Given the description of an element on the screen output the (x, y) to click on. 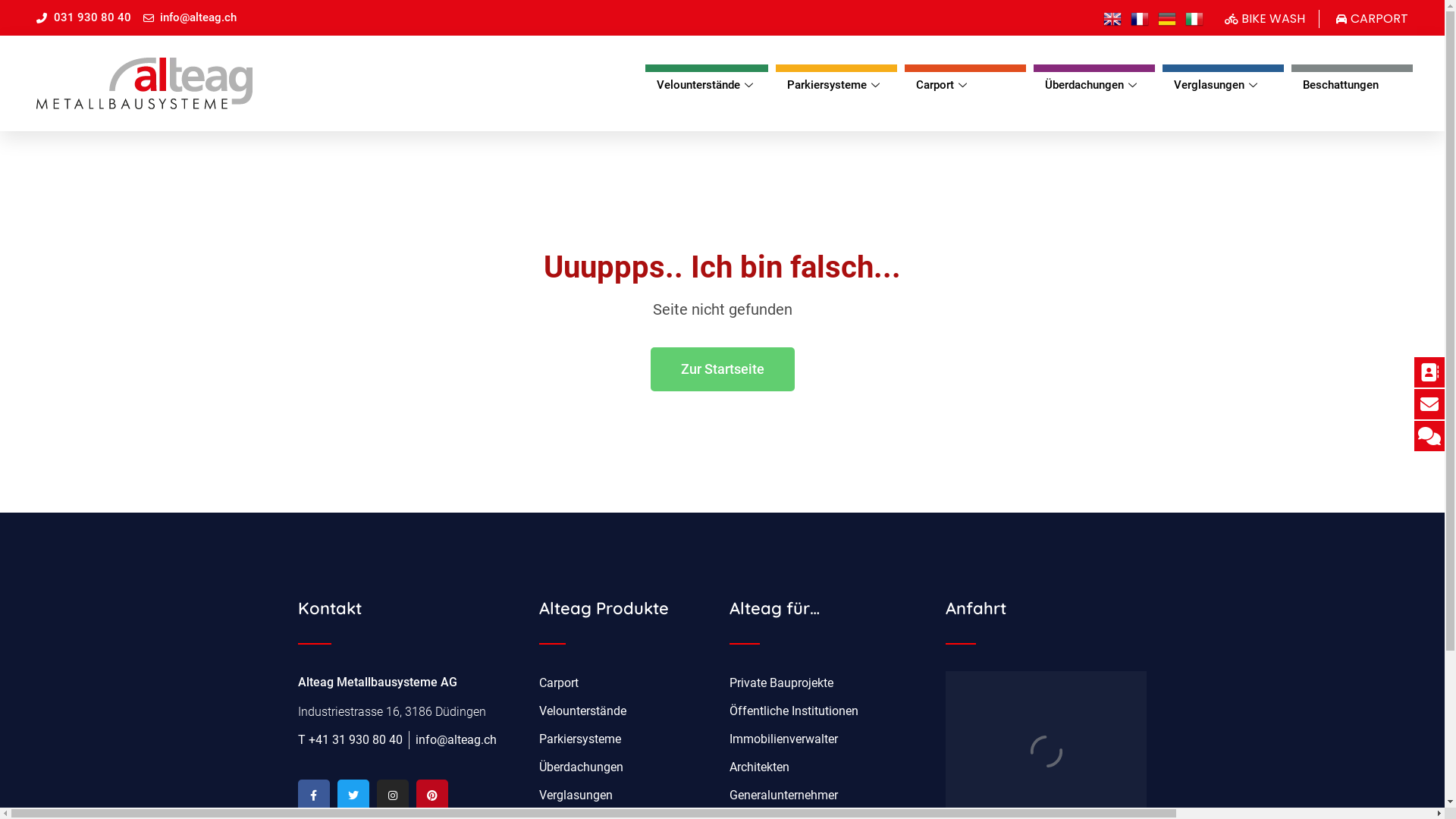
T +41 31 930 80 40 Element type: text (349, 740)
Verglasungen Element type: text (1222, 81)
Immobilienverwalter Element type: text (829, 739)
Architekten Element type: text (829, 767)
info@alteag.ch Element type: text (190, 17)
Beschattungen Element type: text (1351, 81)
Parkiersysteme Element type: text (626, 739)
English Element type: hover (1115, 17)
Verglasungen Element type: text (626, 795)
  Element type: text (1197, 17)
info@alteag.ch Element type: text (455, 740)
031 930 80 40 Element type: text (83, 17)
Zur Startseite Element type: text (722, 369)
Parkiersysteme Element type: text (836, 81)
  Element type: text (1169, 17)
BIKE WASH Element type: text (1264, 18)
Generalunternehmer Element type: text (829, 795)
French Element type: hover (1142, 17)
CARPORT Element type: text (1370, 18)
Carport Element type: text (626, 683)
  Element type: text (1142, 17)
  Element type: text (1115, 17)
German Element type: hover (1169, 17)
Italian Element type: hover (1197, 17)
Private Bauprojekte Element type: text (829, 683)
Carport Element type: text (965, 81)
